Given the description of an element on the screen output the (x, y) to click on. 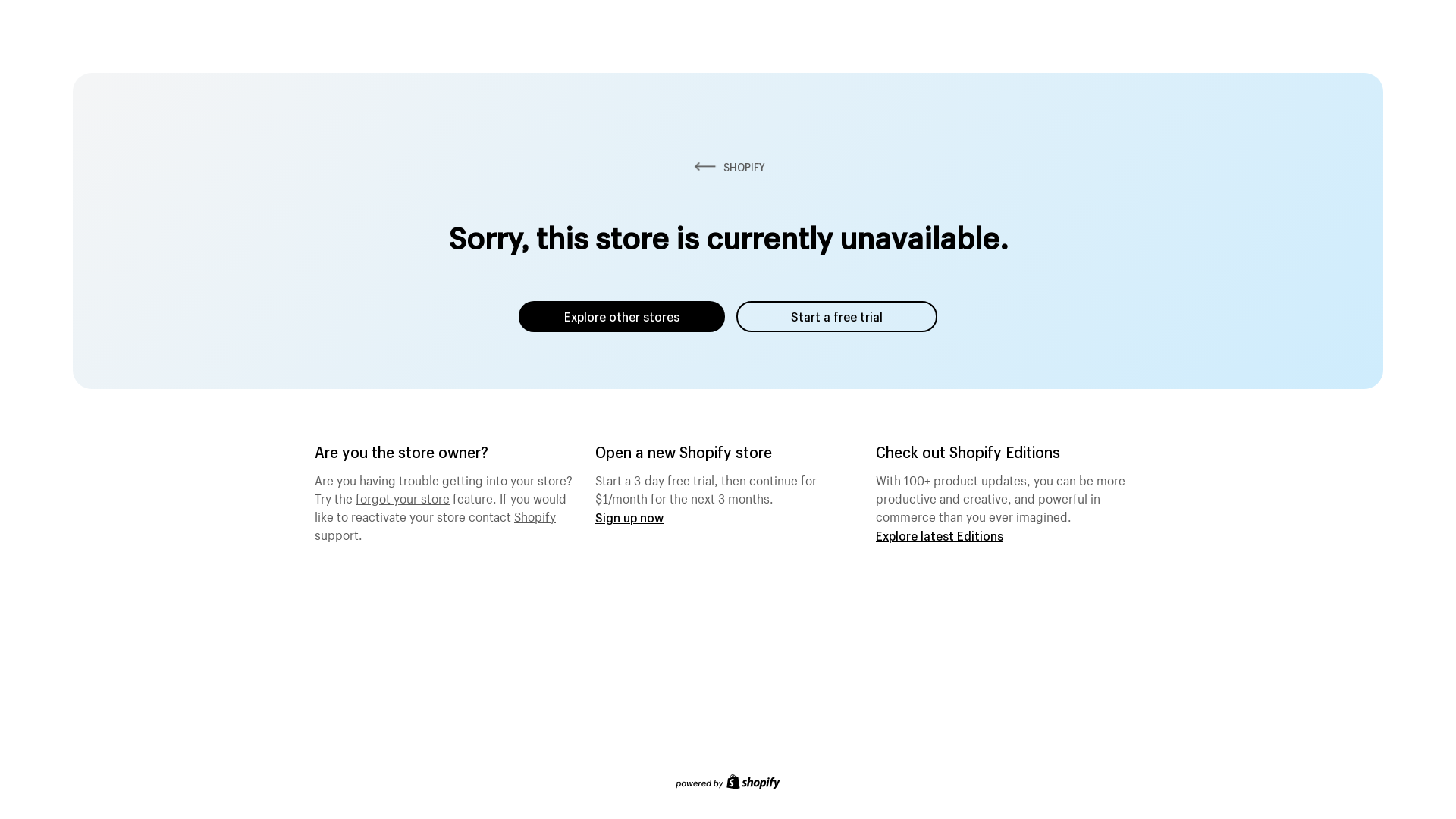
Explore latest Editions Element type: text (939, 535)
Explore other stores Element type: text (621, 316)
SHOPIFY Element type: text (727, 167)
Sign up now Element type: text (629, 517)
Shopify support Element type: text (434, 523)
Start a free trial Element type: text (836, 316)
forgot your store Element type: text (402, 496)
